Given the description of an element on the screen output the (x, y) to click on. 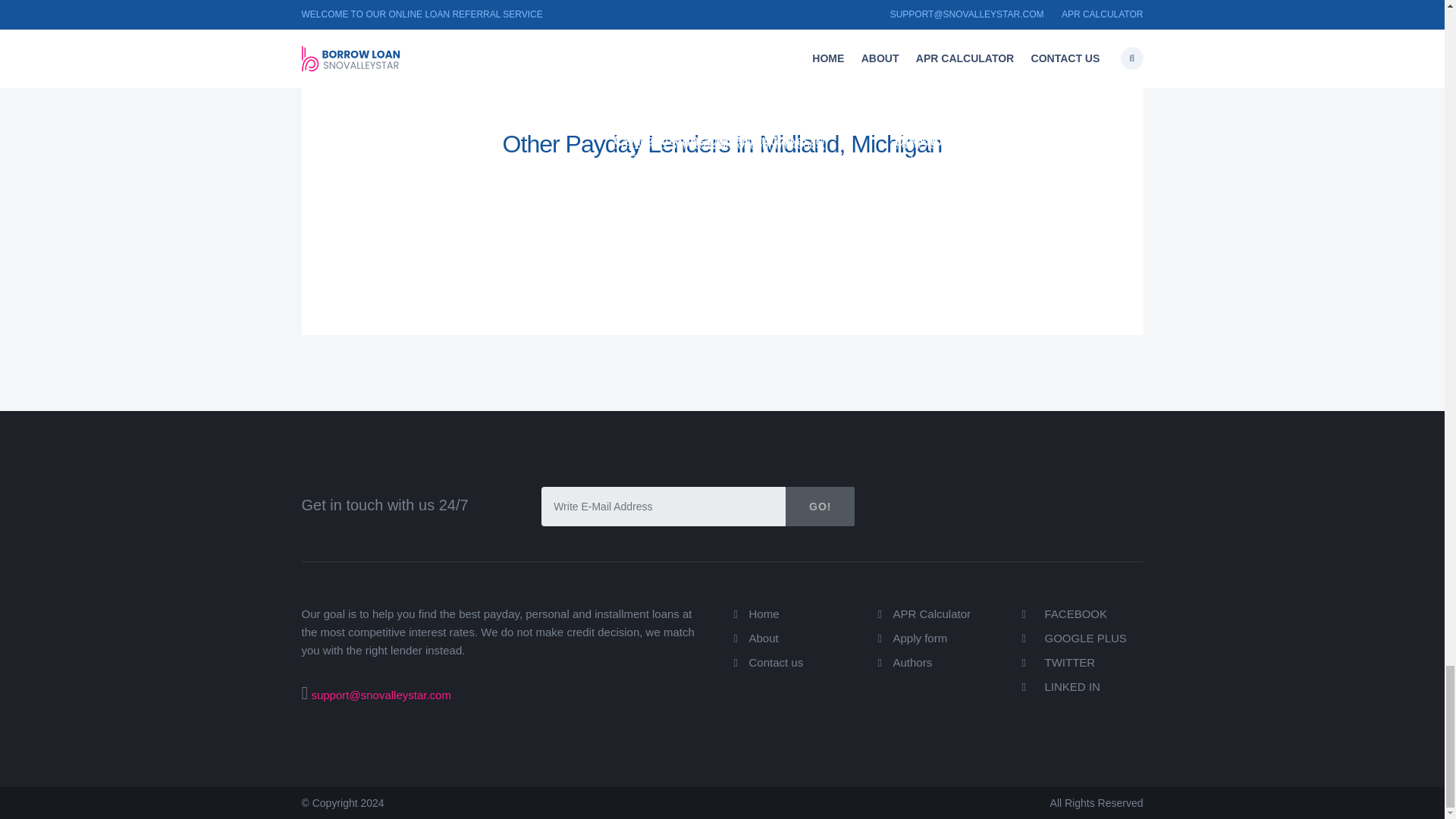
GreenStone Farm Credit Services (416, 84)
Horizon Bank (658, 117)
About (763, 637)
Contact us (776, 662)
Home (763, 613)
Lake Trust Credit Union (972, 117)
Cashco Inc (371, 139)
Mercantile Bank of Michigan (988, 94)
Top Flite Financial - Grand Rapids (702, 102)
Quik Cash (368, 135)
GO! (820, 506)
Catholic Vantage Financial (702, 139)
